Given the description of an element on the screen output the (x, y) to click on. 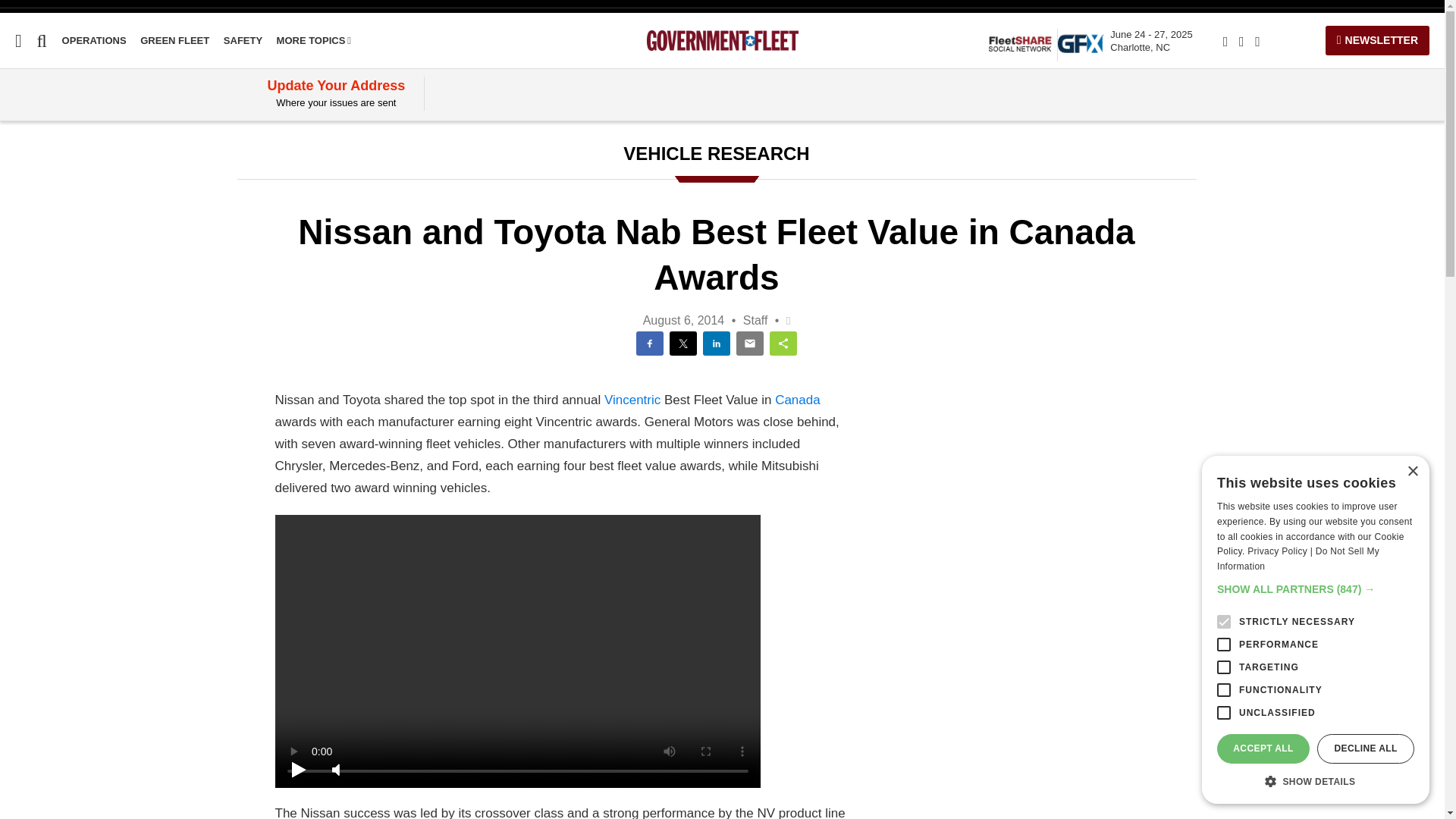
Operations (94, 40)
GREEN FLEET (174, 40)
Software (25, 225)
Police (16, 283)
Fuel (11, 196)
Home (16, 138)
SAFETY (1150, 40)
Fuel (243, 40)
Vehicle Research (11, 196)
Green Fleet (50, 167)
MORE TOPICS (174, 40)
Safety (314, 40)
June 24 - 27, 2025 (243, 40)
OPERATIONS (1150, 40)
